Given the description of an element on the screen output the (x, y) to click on. 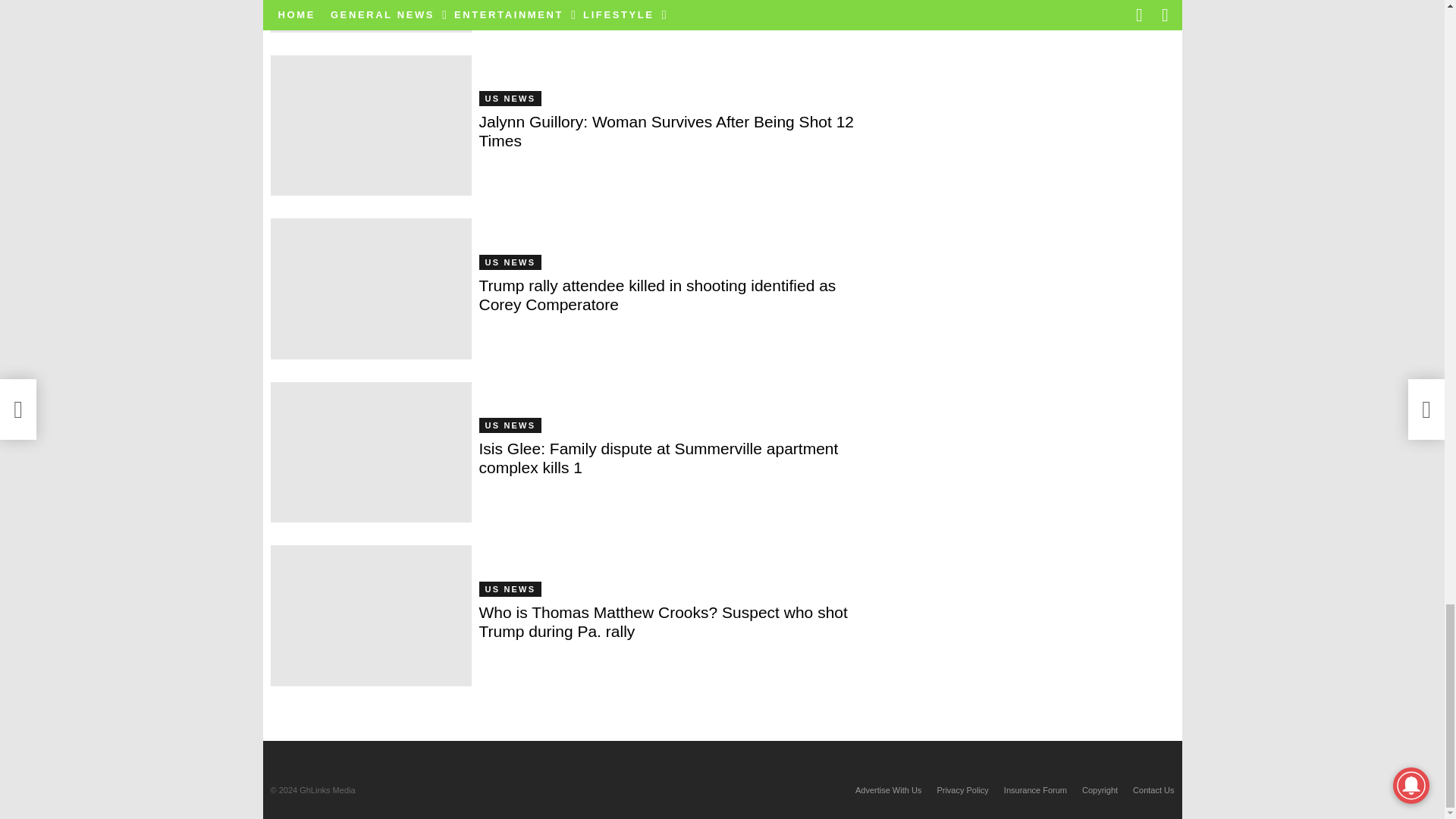
Jalynn Guillory: Woman Survives After Being Shot 12 Times (369, 125)
